Given the description of an element on the screen output the (x, y) to click on. 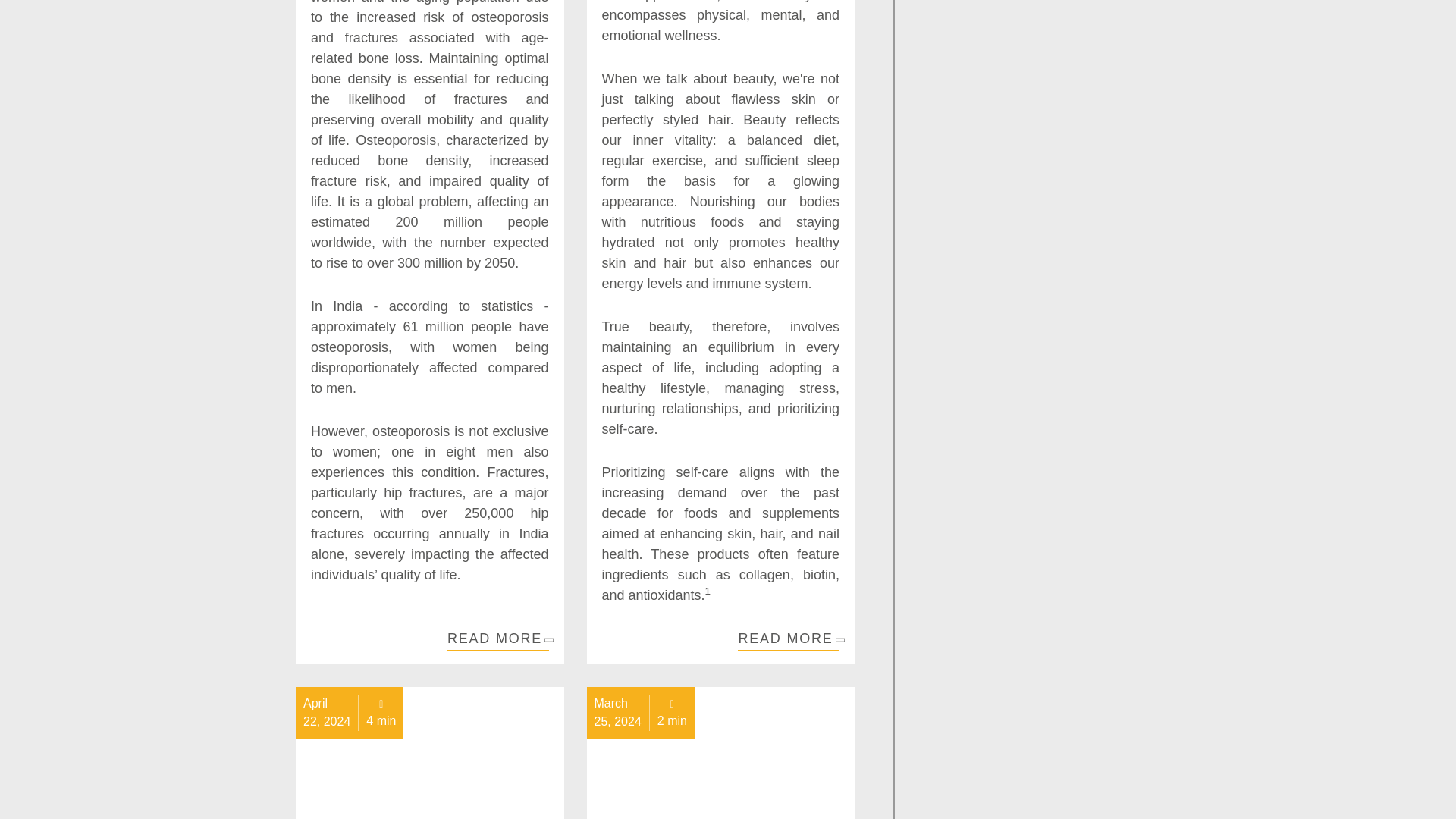
Beauty: The currency of overall health and wellbeing (789, 640)
Collagen Peptides: The Missing Link in Bone Health (497, 640)
